Given the description of an element on the screen output the (x, y) to click on. 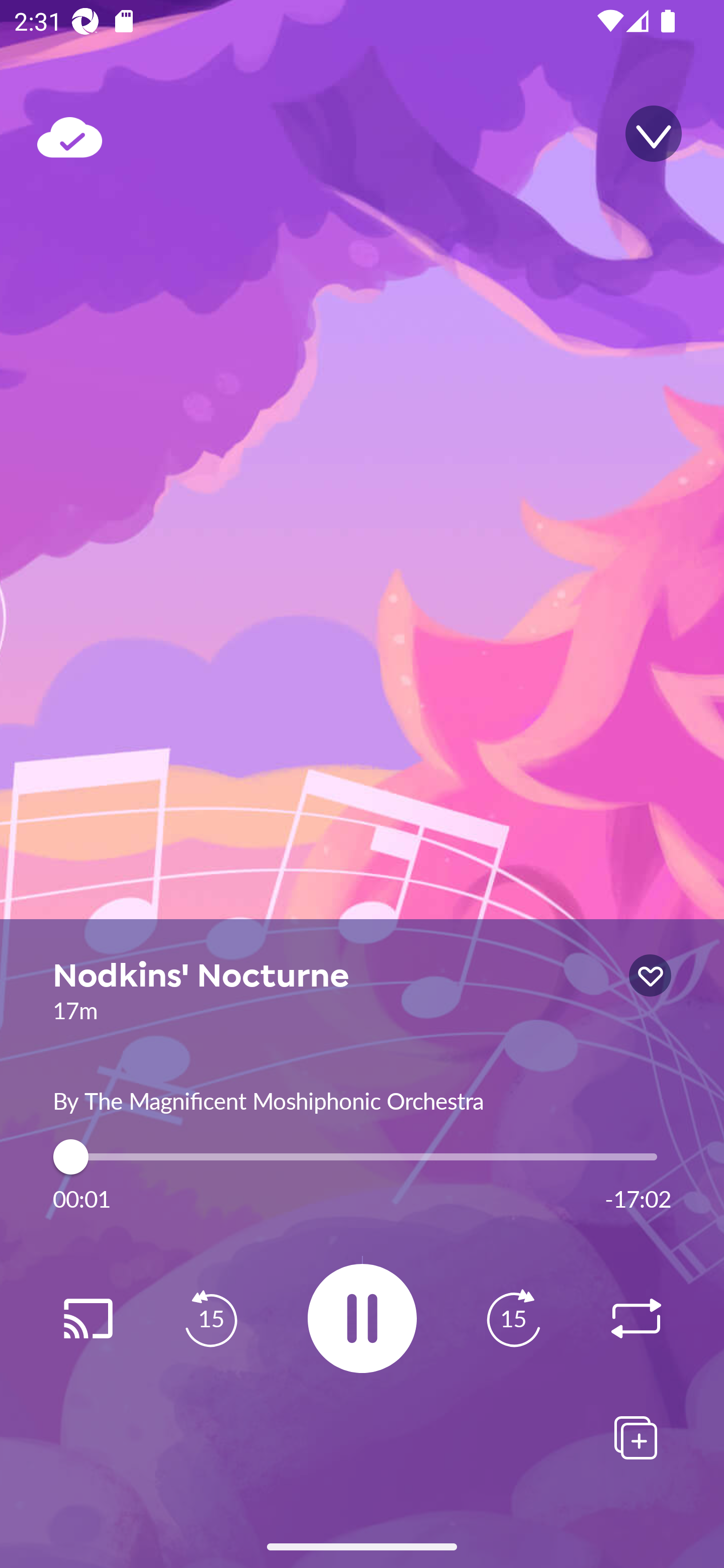
lock icon (650, 974)
By The Magnificent Moshiphonic Orchestra (361, 1098)
9.785156E-4 Pause (361, 1317)
Replay (87, 1318)
Replay 15 (210, 1318)
Replay 15 (513, 1318)
Replay (635, 1318)
Add To Playlists (635, 1437)
